Given the description of an element on the screen output the (x, y) to click on. 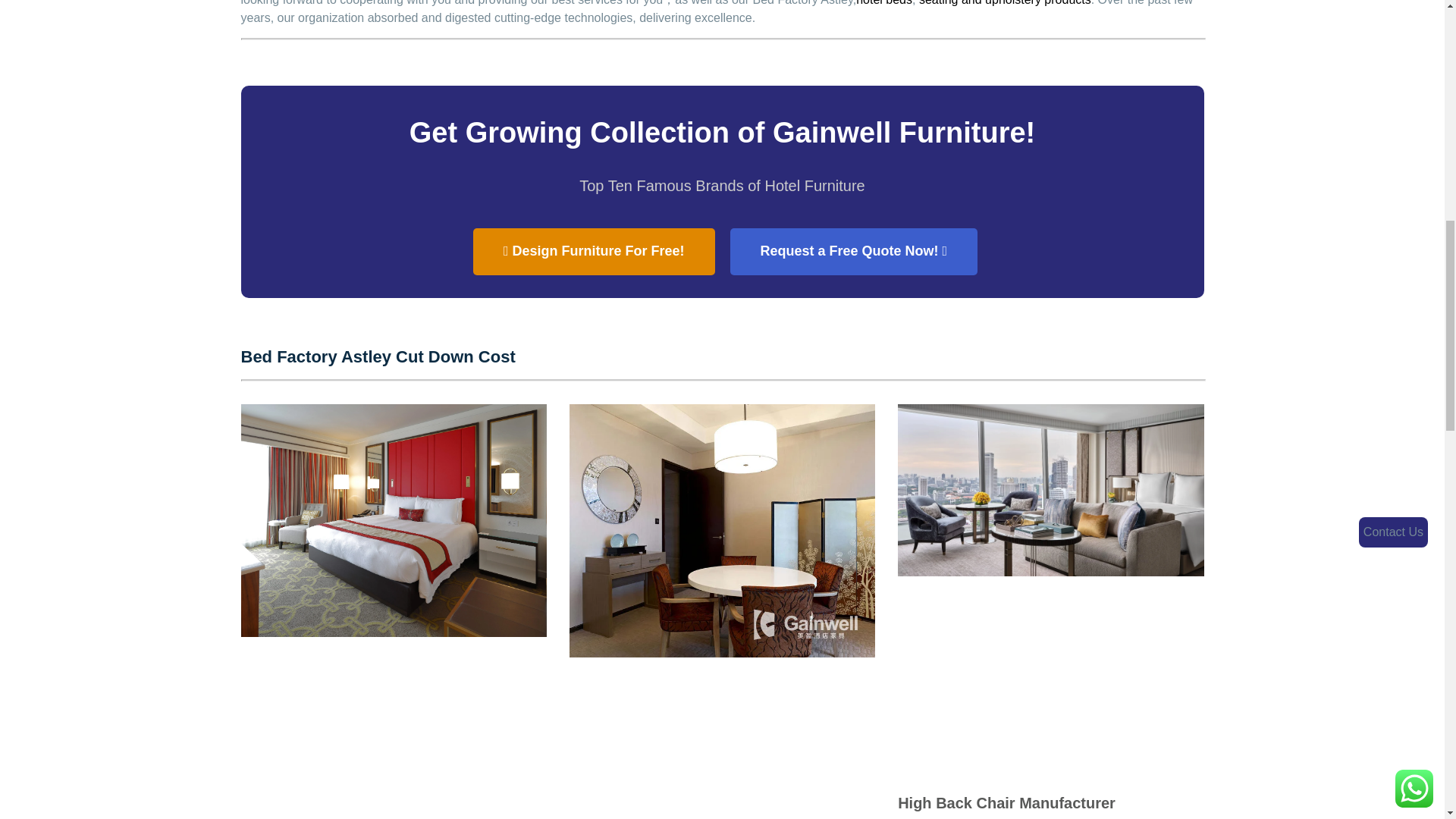
Design Furniture For Free! (593, 251)
Request a Free Quote Now! (852, 251)
seating and upholstery products (1004, 2)
hotel beds (884, 2)
High Back Chair Manufacturer (1006, 802)
